Given the description of an element on the screen output the (x, y) to click on. 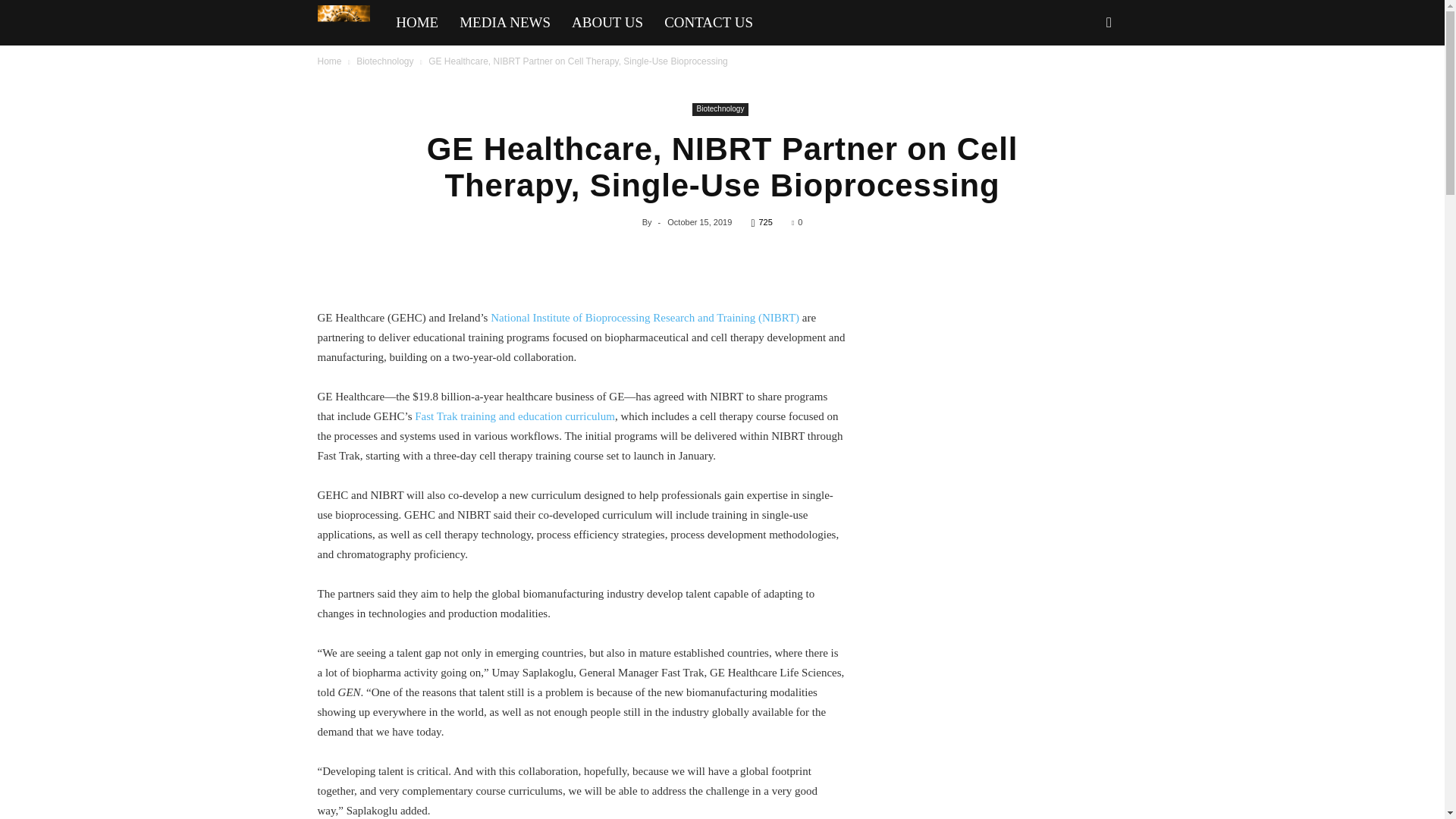
0 (797, 221)
MEDIA NEWS (504, 22)
Biotechnology (721, 109)
American Biotech News (351, 24)
ABOUT US (606, 22)
Newspaper 6 - News Magazine theme for Wordpress (343, 25)
Home (328, 61)
View all posts in Biotechnology (384, 61)
CONTACT US (707, 22)
HOME (416, 22)
